Given the description of an element on the screen output the (x, y) to click on. 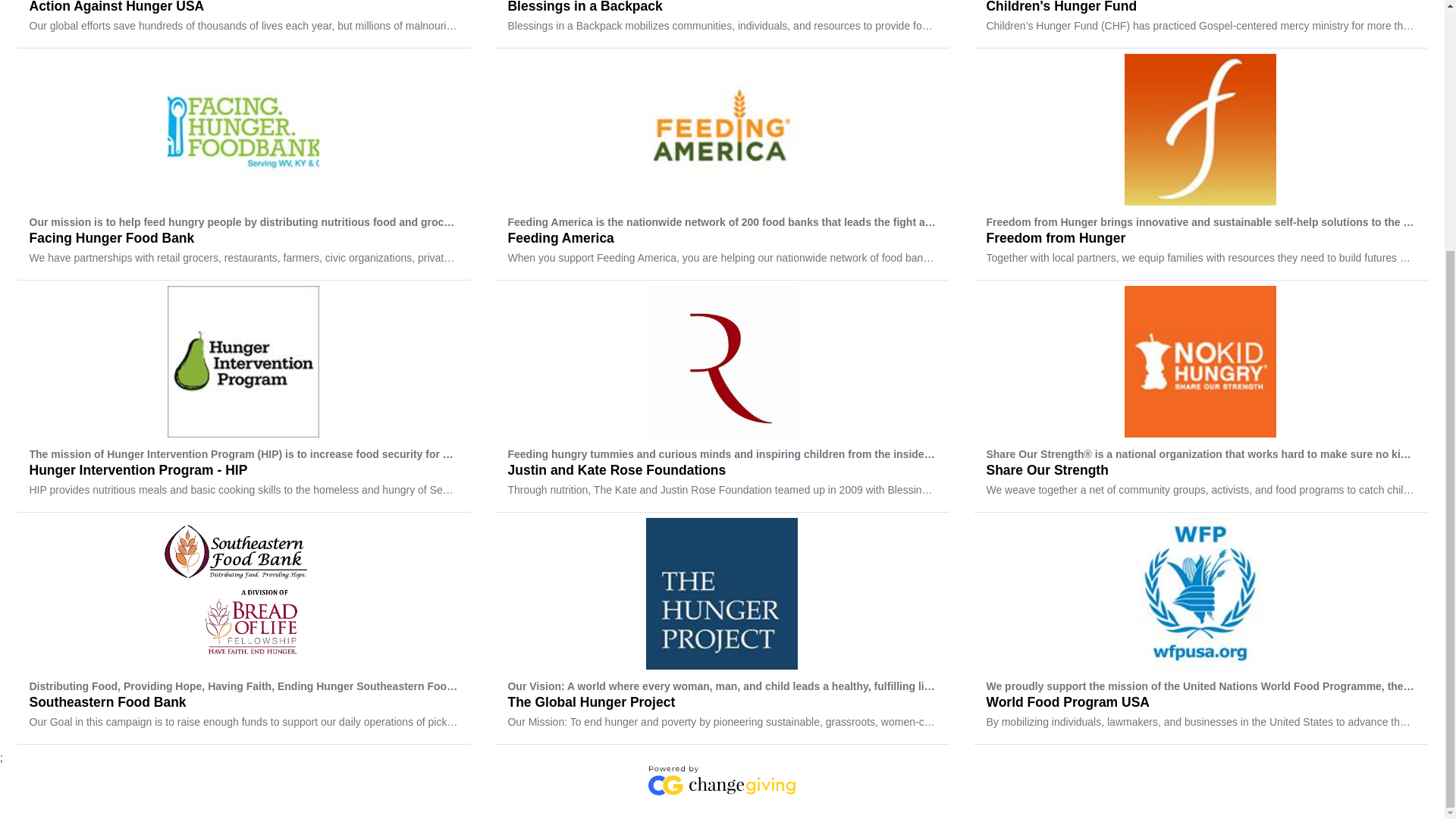
Children's Hunger Fund (1199, 27)
Share Our Strength (1199, 401)
Hunger Intervention Program - HIP (243, 401)
Freedom from Hunger (1199, 169)
World Food Program USA (1199, 633)
Feeding America (721, 169)
Blessings in a Backpack (721, 27)
Facing Hunger Food Bank (243, 169)
Justin and Kate Rose Foundations (721, 401)
Southeastern Food Bank (243, 633)
The Global Hunger Project (721, 633)
